Given the description of an element on the screen output the (x, y) to click on. 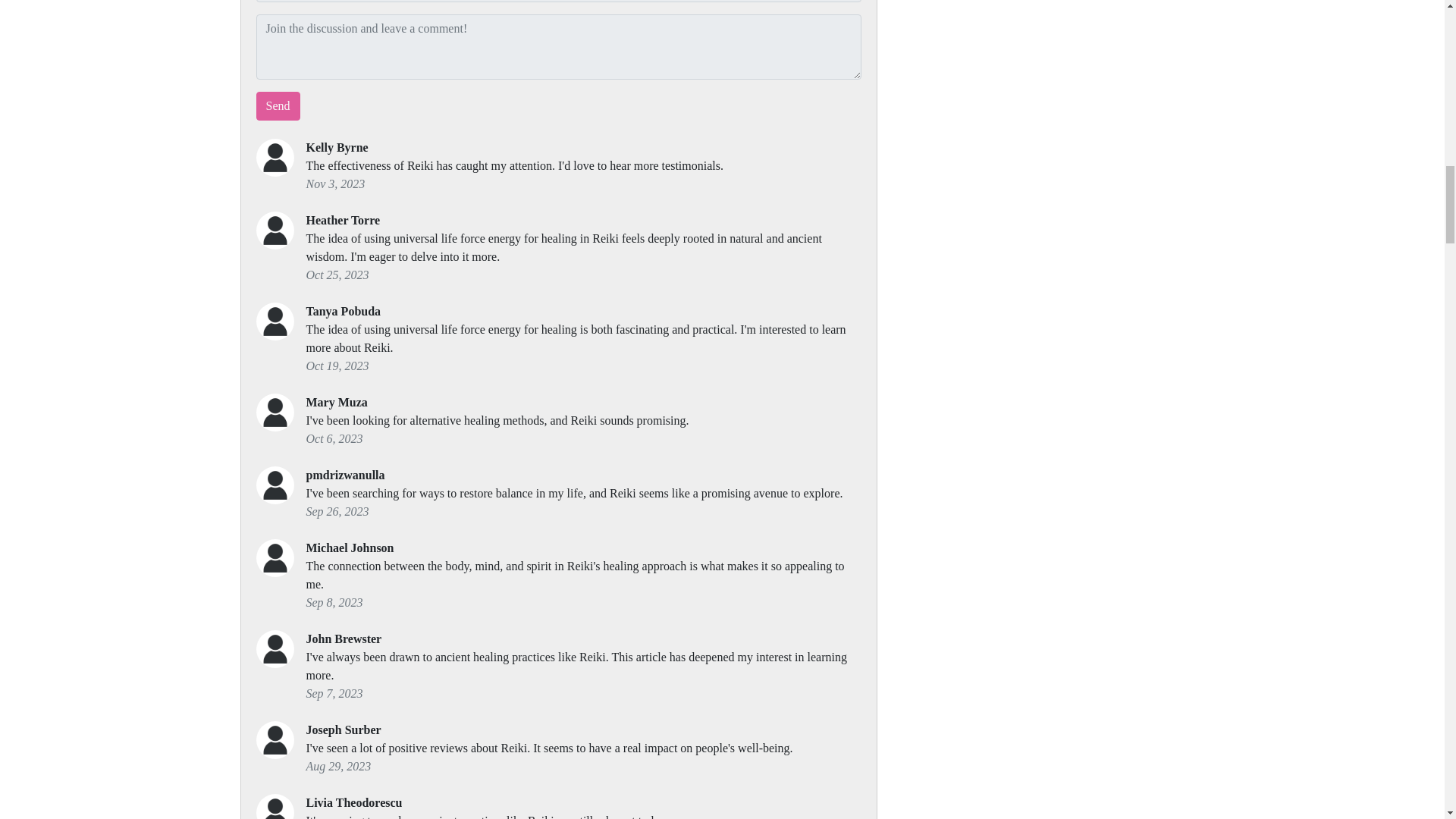
Send (277, 104)
Send (277, 104)
